Given the description of an element on the screen output the (x, y) to click on. 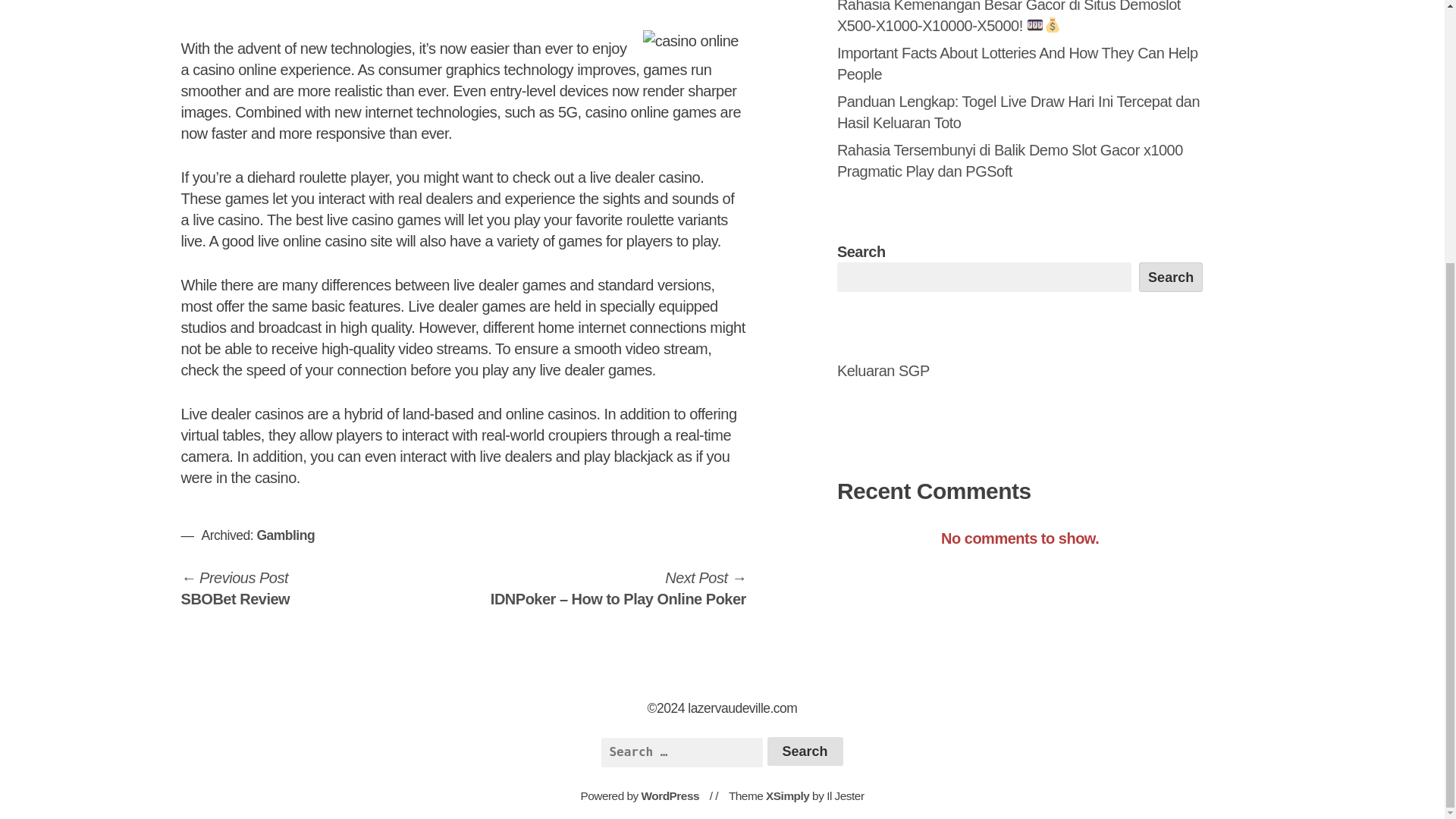
Search (805, 751)
Important Facts About Lotteries And How They Can Help People (1017, 63)
Search (805, 751)
Search (234, 588)
XSimply (1171, 276)
Gambling (787, 795)
WordPress (285, 534)
Search (670, 795)
Keluaran SGP (805, 751)
